Given the description of an element on the screen output the (x, y) to click on. 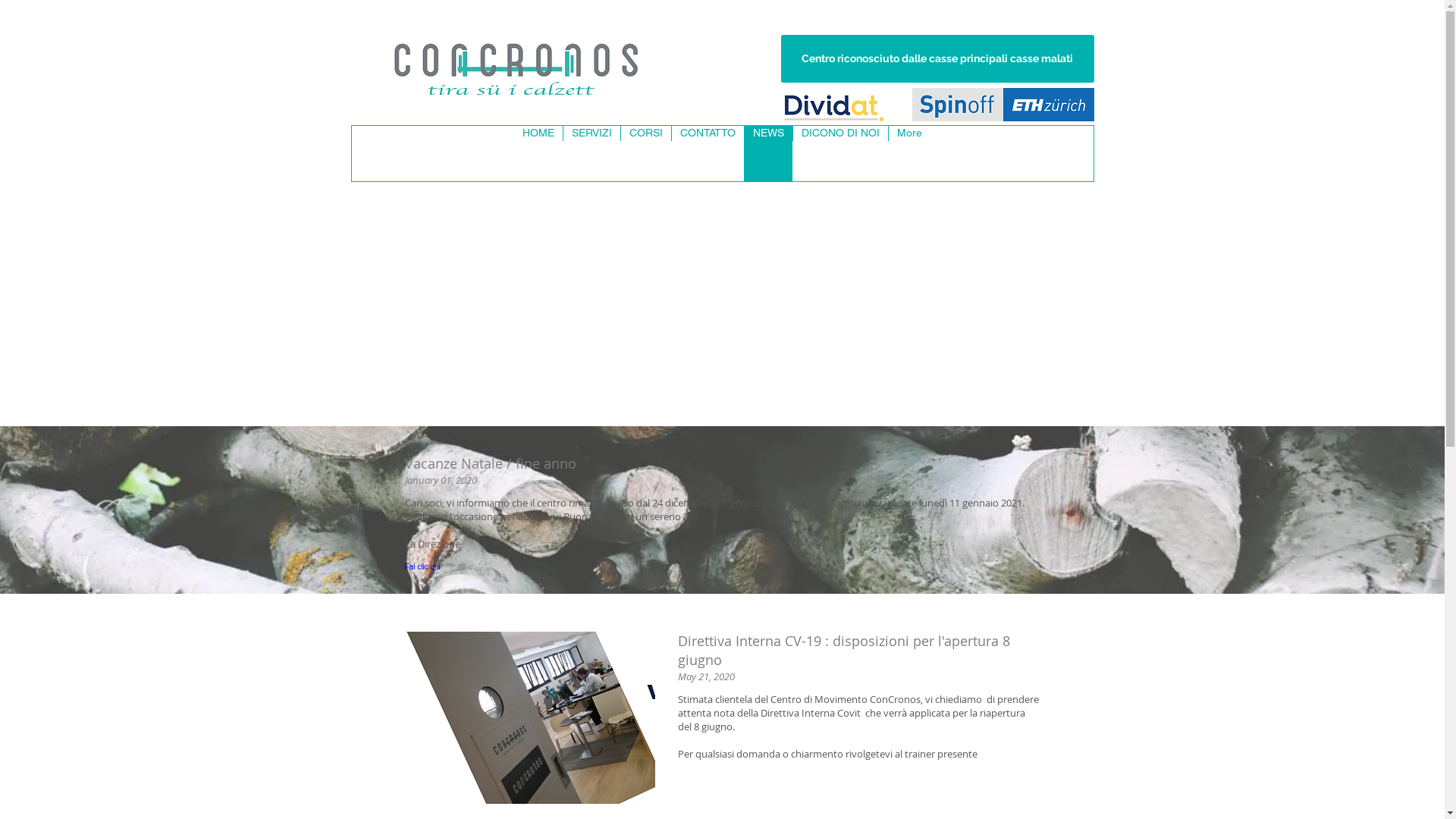
HOME Element type: text (538, 153)
CORSI Element type: text (645, 153)
NEWS Element type: text (767, 153)
CONTATTO Element type: text (707, 153)
Porte aperte.png Element type: hover (529, 717)
Fai clic qui Element type: text (465, 577)
Centro riconosciuto dalle casse principali casse malati Element type: text (937, 58)
SERVIZI Element type: text (591, 153)
DICONO DI NOI Element type: text (840, 153)
